Given the description of an element on the screen output the (x, y) to click on. 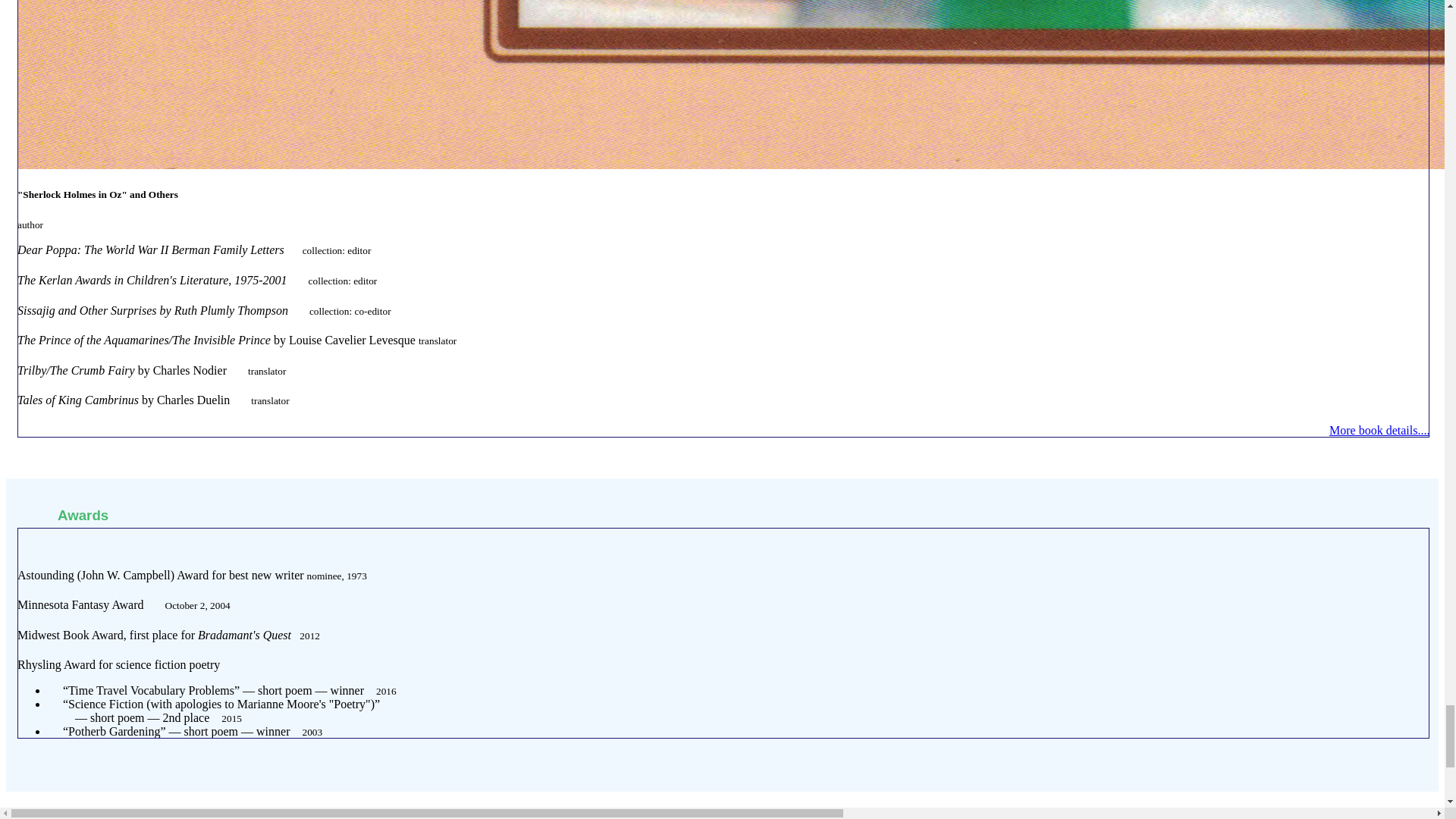
More book details.... (1379, 430)
